Given the description of an element on the screen output the (x, y) to click on. 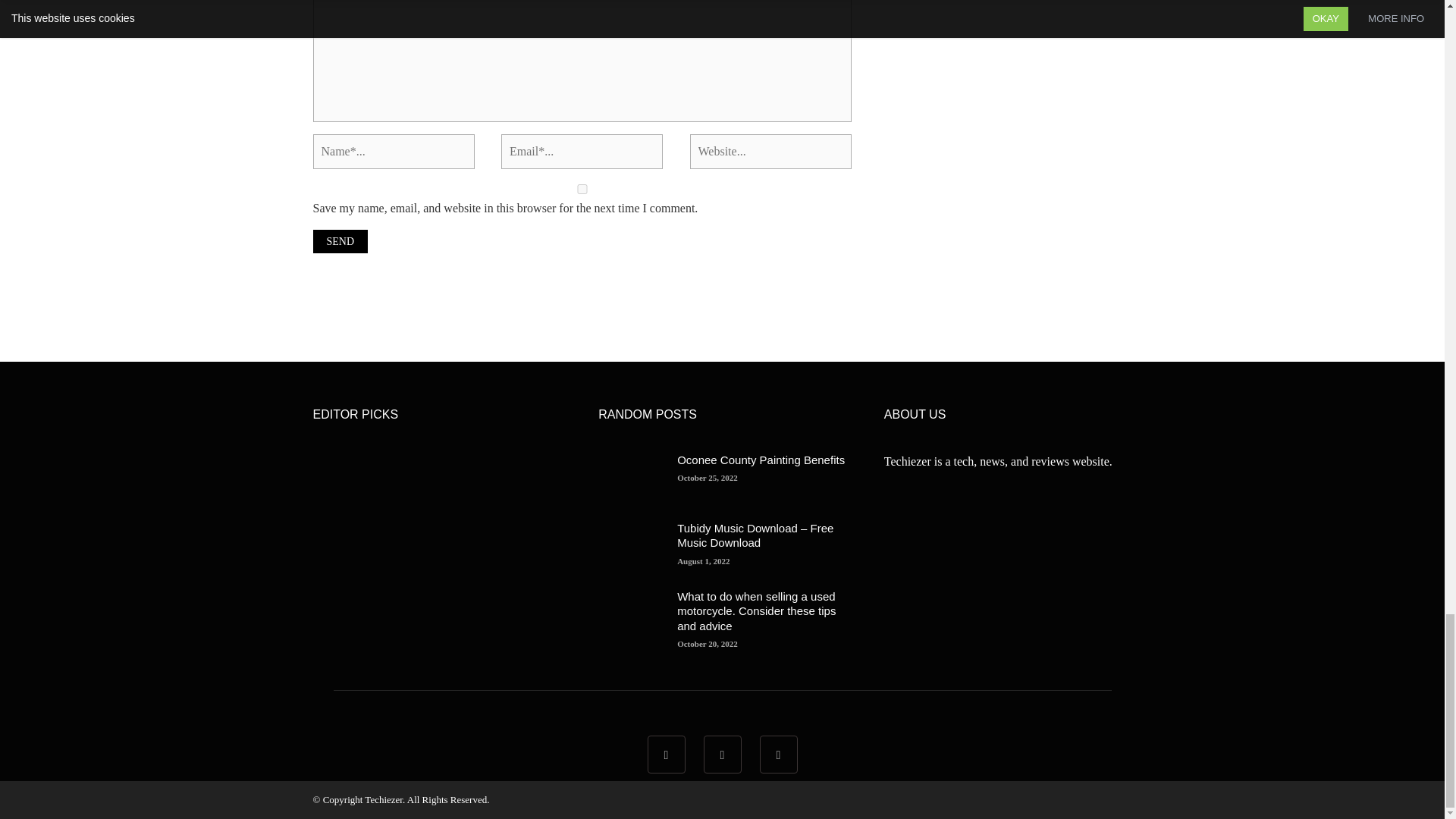
Send (340, 241)
yes (581, 189)
